Given the description of an element on the screen output the (x, y) to click on. 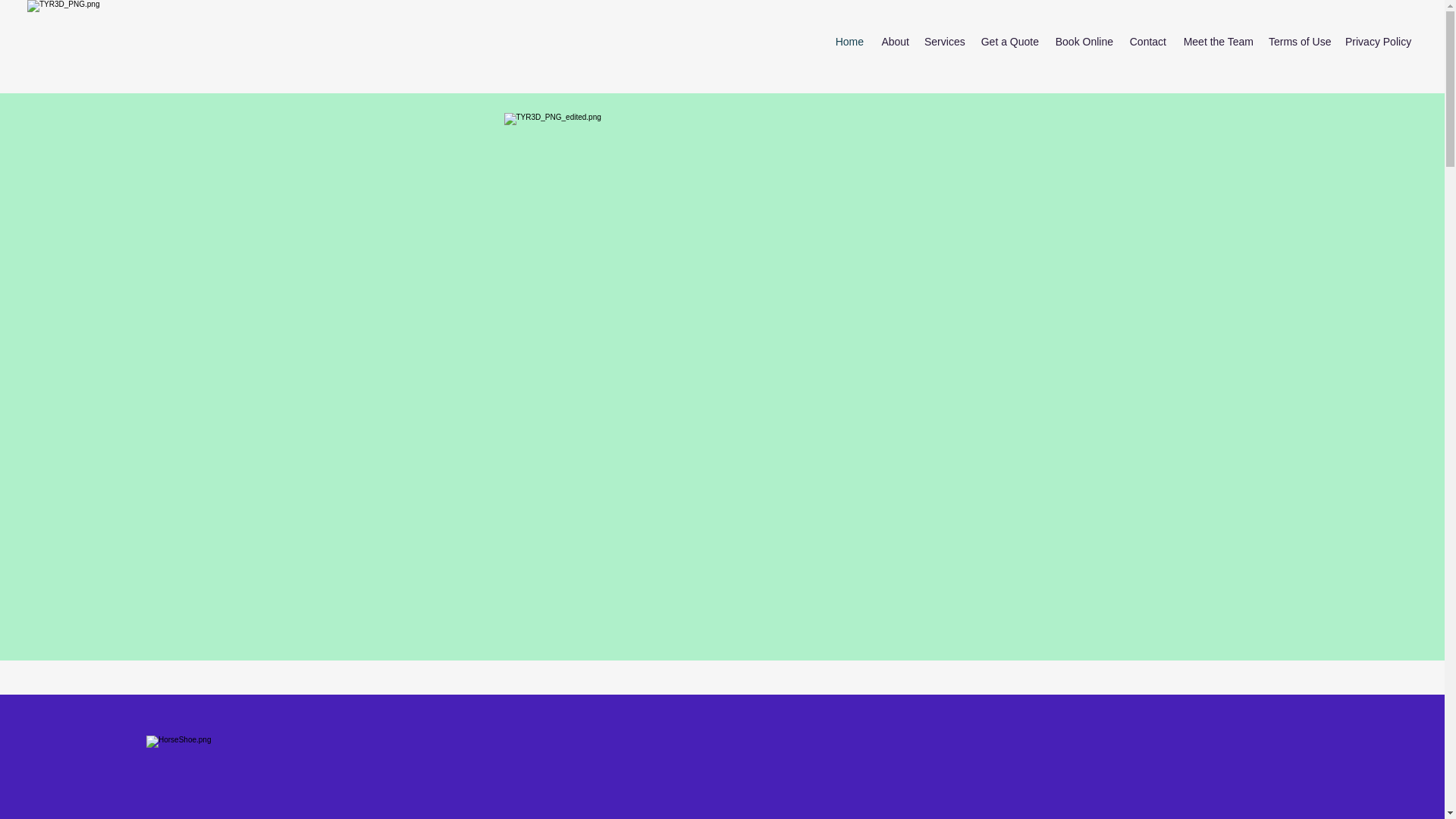
Privacy Policy (1375, 41)
Services (944, 41)
Home (848, 41)
Terms of Use (1299, 41)
Get a Quote (1008, 41)
Book Online (1083, 41)
About (893, 41)
Contact (1147, 41)
Meet the Team (1216, 41)
